Given the description of an element on the screen output the (x, y) to click on. 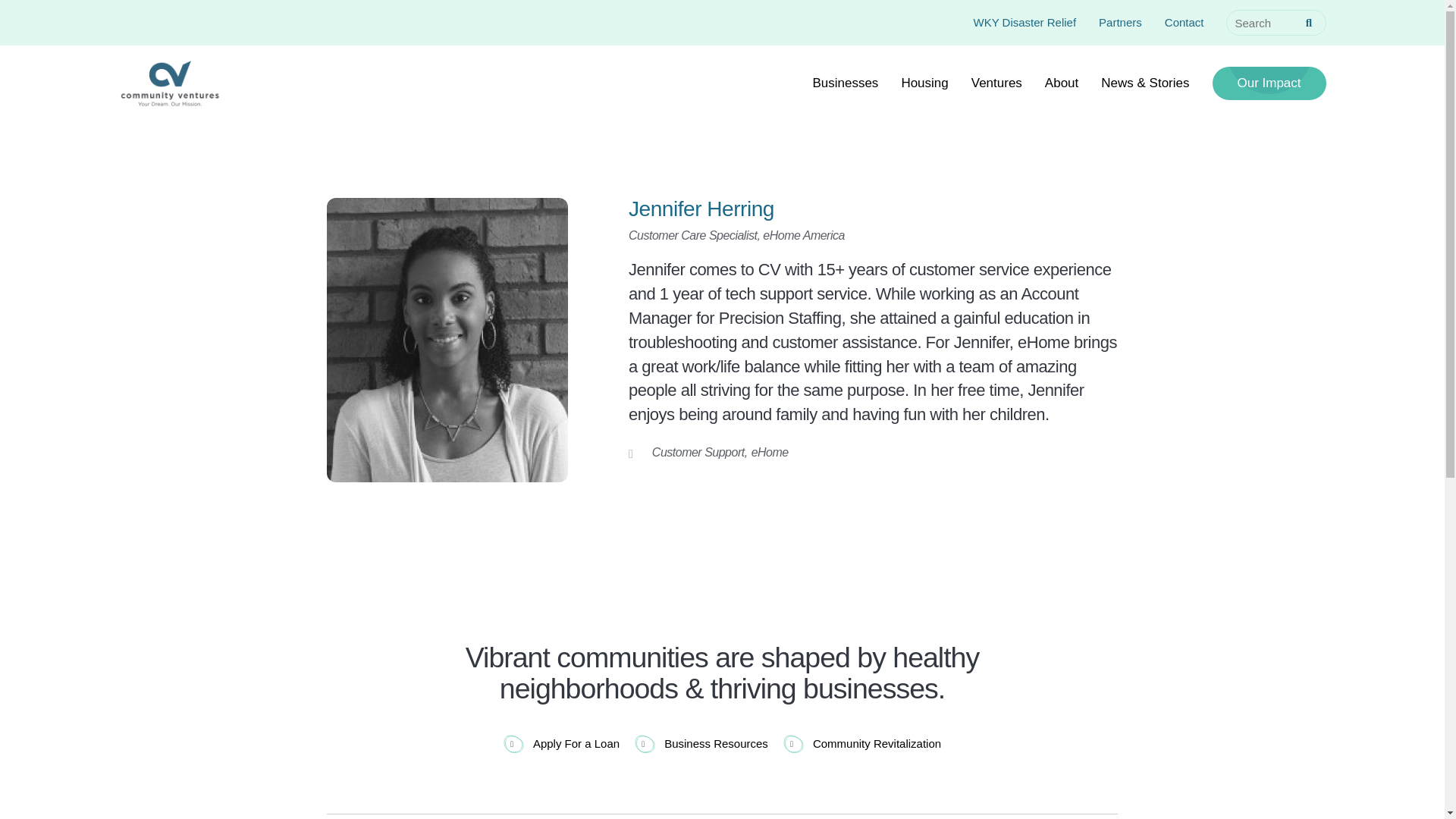
Contact (1184, 21)
Businesses (844, 83)
Ventures (996, 83)
Apply For a Loan (561, 743)
Community Revitalization (861, 743)
Business Resources (701, 743)
Partners (1120, 21)
WKY Disaster Relief (1025, 21)
Our Impact (1267, 82)
About (1061, 83)
Housing (924, 83)
